Given the description of an element on the screen output the (x, y) to click on. 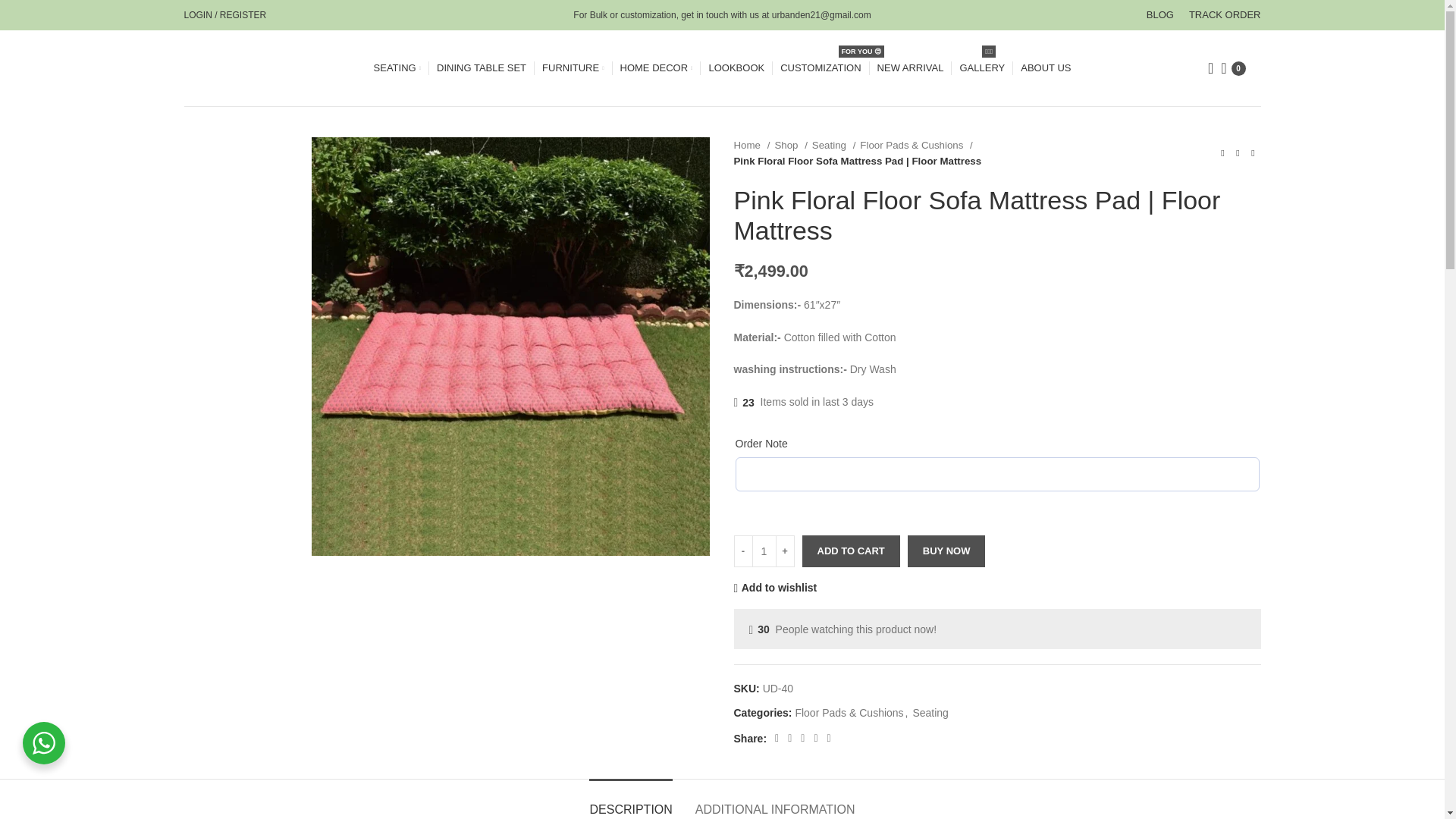
HOME DECOR (656, 68)
0 (1232, 68)
NEW ARRIVAL (910, 68)
My account (224, 15)
FURNITURE (572, 68)
DINING TABLE SET (480, 68)
LOOKBOOK (735, 68)
SEATING (397, 68)
BLOG (1160, 15)
Log in (309, 245)
TRACK ORDER (1224, 15)
Shopping cart (1232, 68)
ABOUT US (1045, 68)
